Given the description of an element on the screen output the (x, y) to click on. 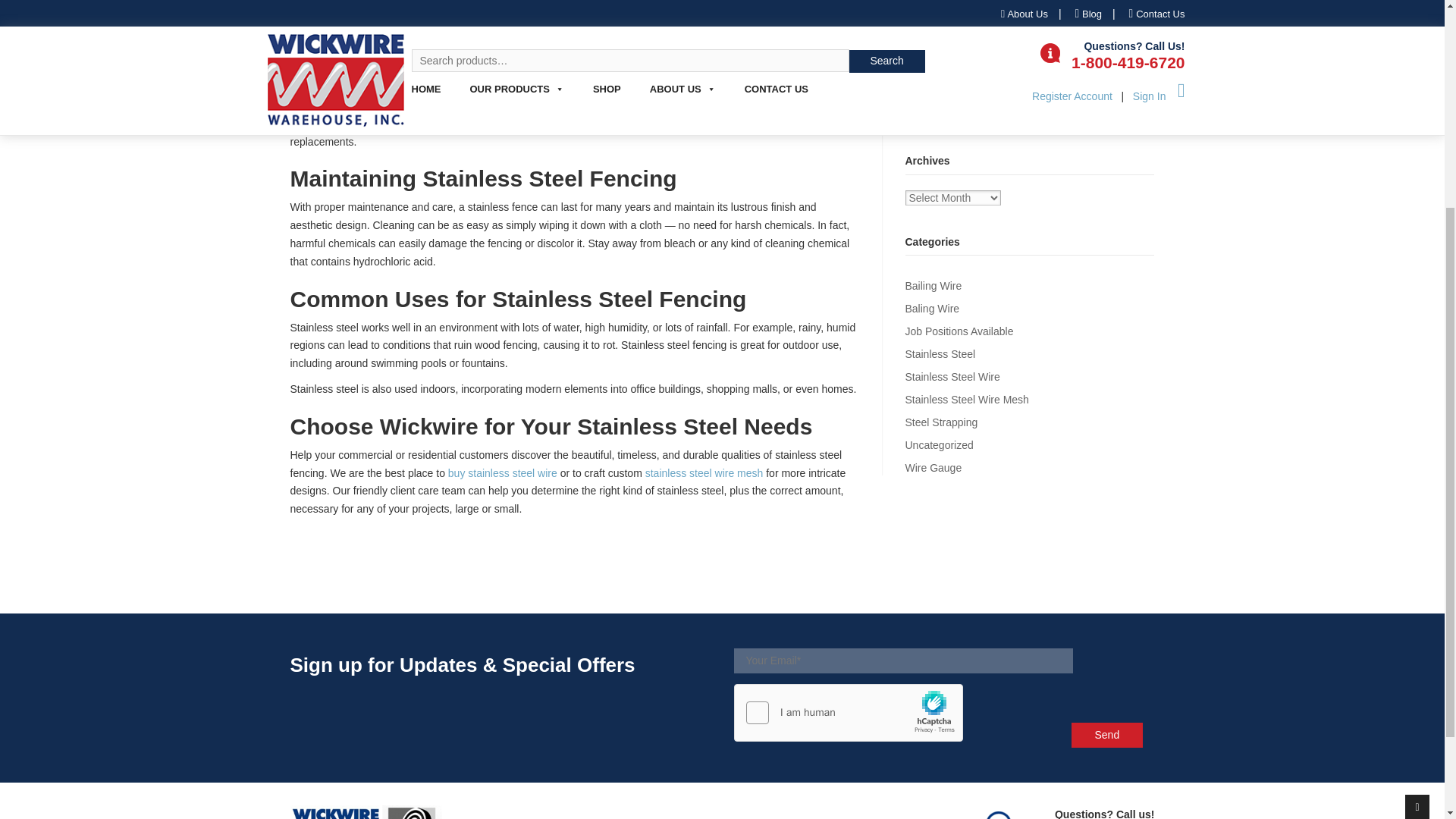
Job Positions Available (959, 331)
The History of Galvanized Steel (979, 79)
stainless steel wire mesh (703, 472)
Baling Wire (932, 308)
Why Choose Single Loop Baling Wire? (996, 33)
Widget containing checkbox for hCaptcha security challenge (848, 712)
Send (1106, 734)
Where Does American Steel Come From? (1004, 56)
Bailing Wire (933, 285)
Stainless Steel (940, 354)
buy stainless steel wire (502, 472)
